Given the description of an element on the screen output the (x, y) to click on. 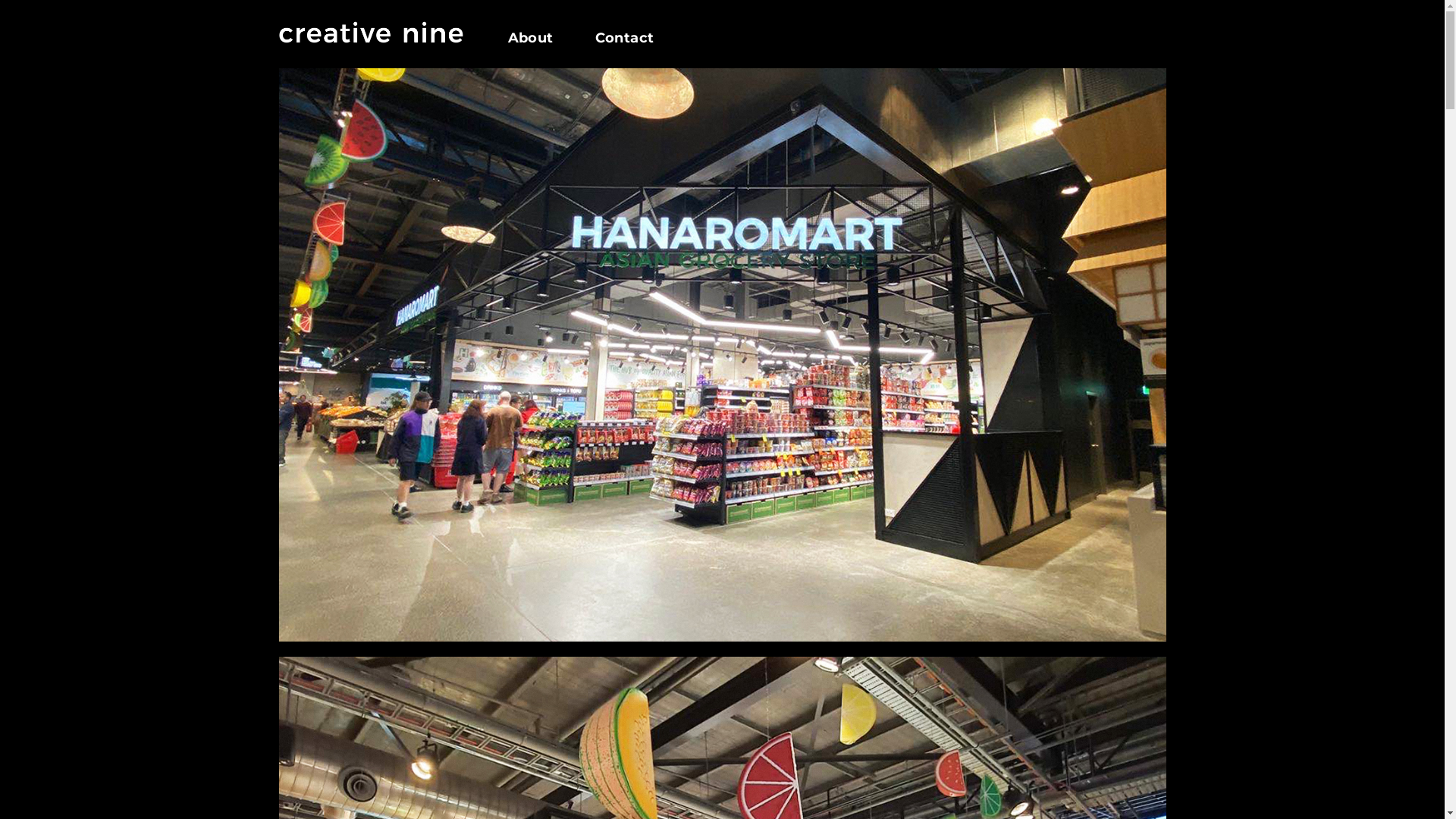
About Element type: text (541, 37)
Contact Element type: text (613, 37)
Creative 9 Element type: hover (371, 33)
